Given the description of an element on the screen output the (x, y) to click on. 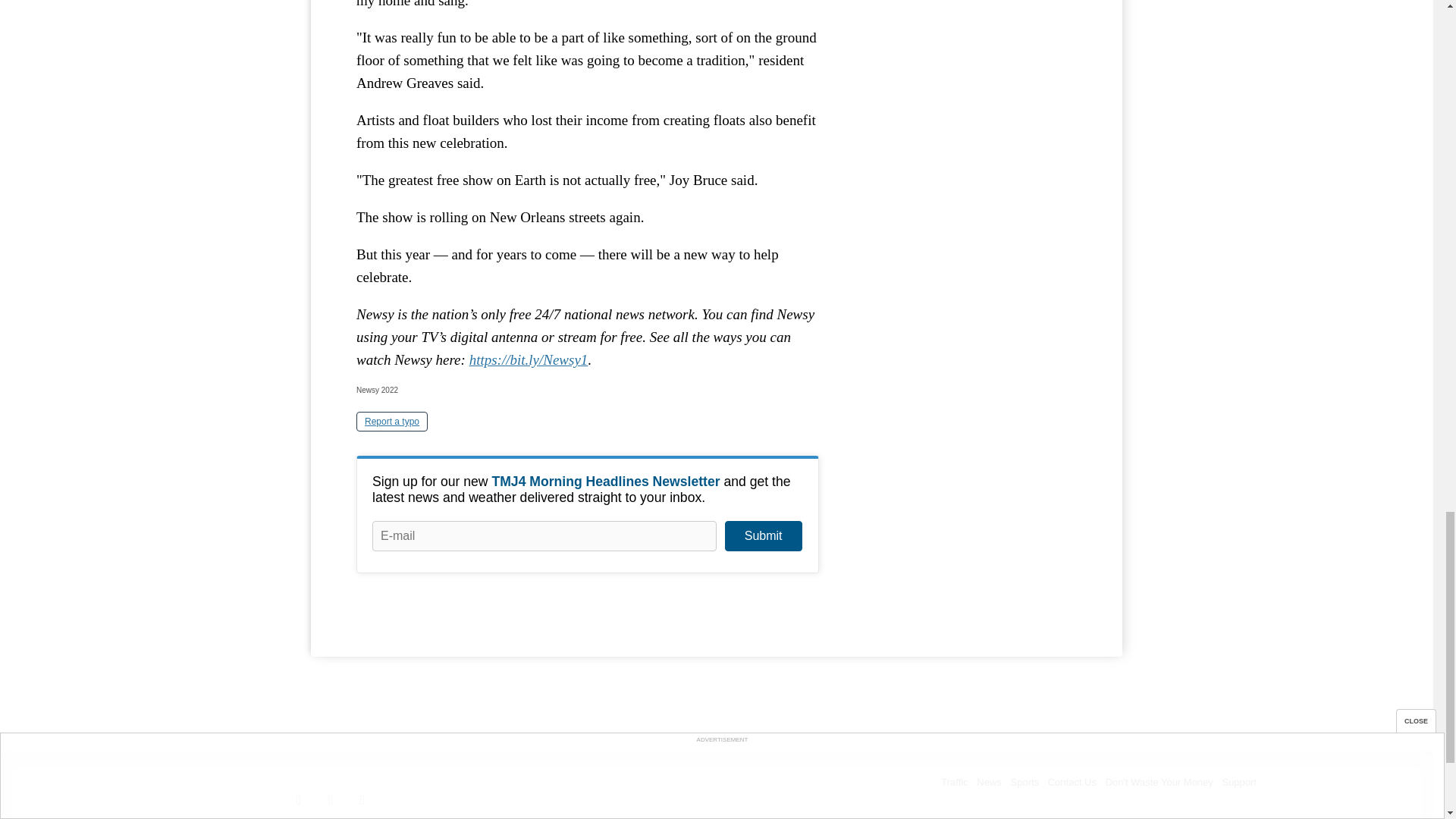
Submit (763, 535)
